Given the description of an element on the screen output the (x, y) to click on. 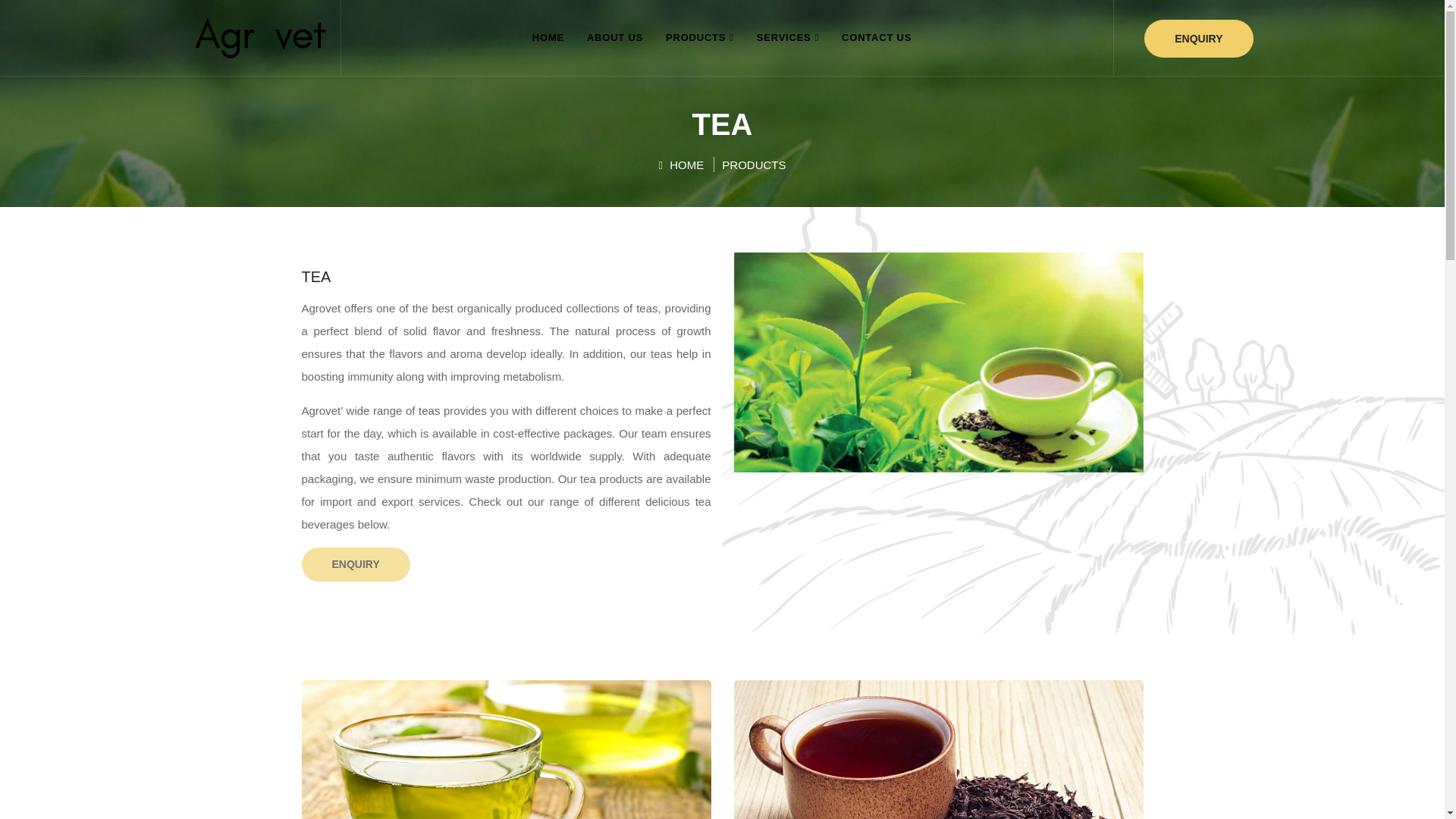
SERVICES (787, 38)
ABOUT US (614, 38)
ENQUIRY (1198, 38)
PRODUCTS (699, 38)
ENQUIRY (355, 564)
HOME (680, 164)
CONTACT US (876, 38)
